Given the description of an element on the screen output the (x, y) to click on. 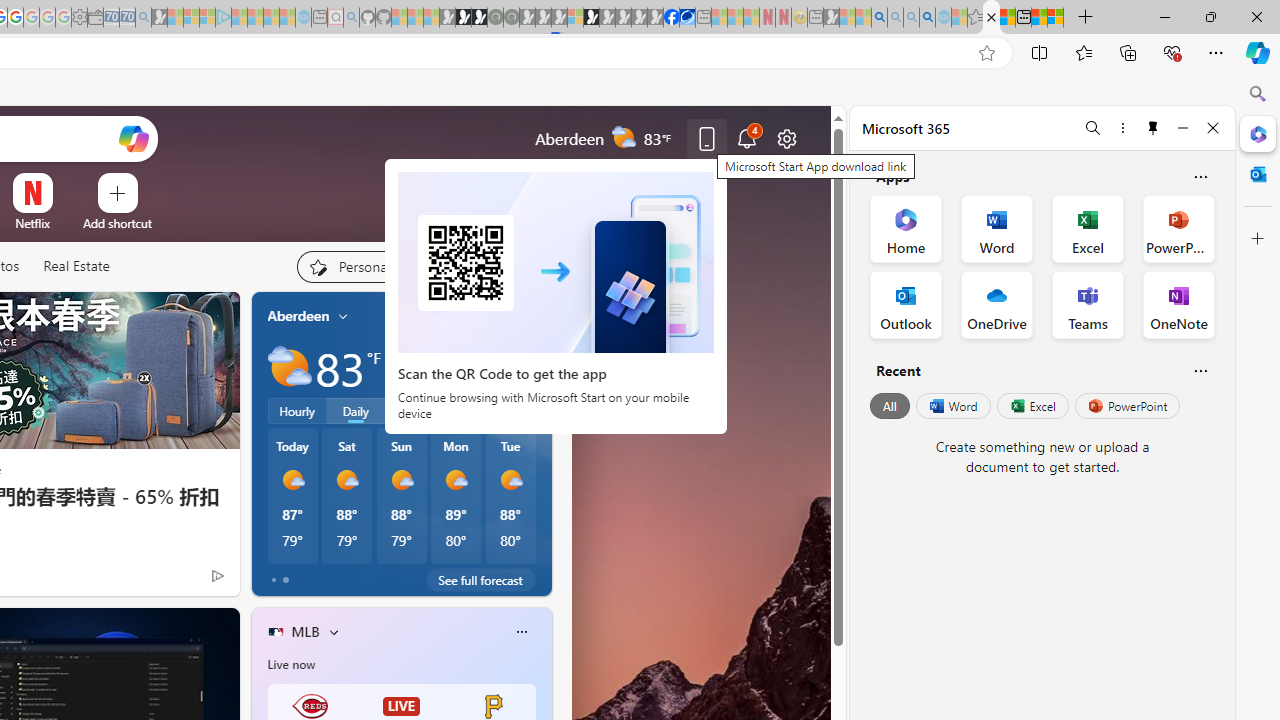
MSN - Sleeping (831, 17)
Google Chrome Internet Browser Download - Search Images (927, 17)
Partly sunny (289, 368)
